Given the description of an element on the screen output the (x, y) to click on. 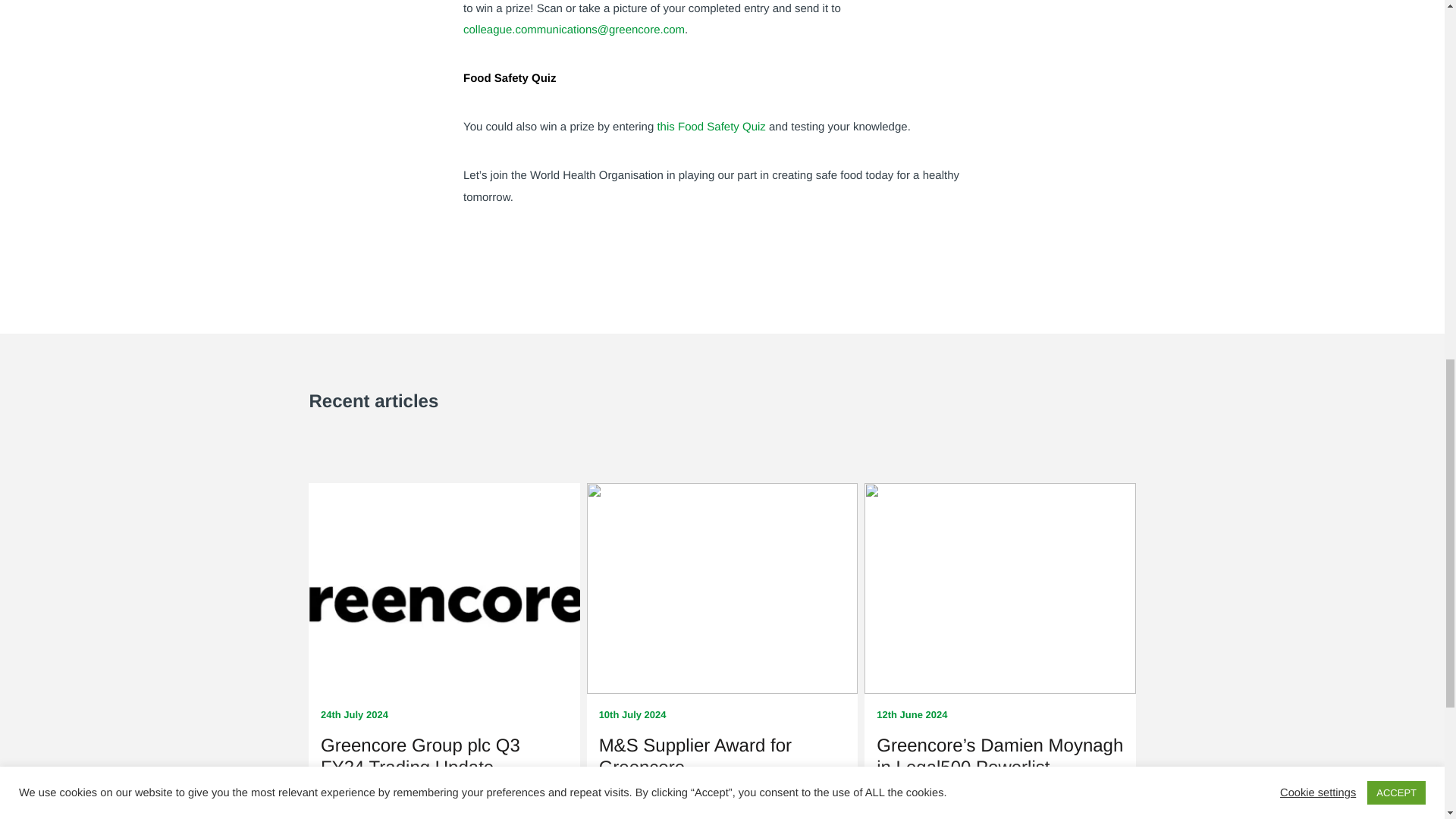
Greencore Group plc Q3 FY24 Trading Update (419, 756)
